Given the description of an element on the screen output the (x, y) to click on. 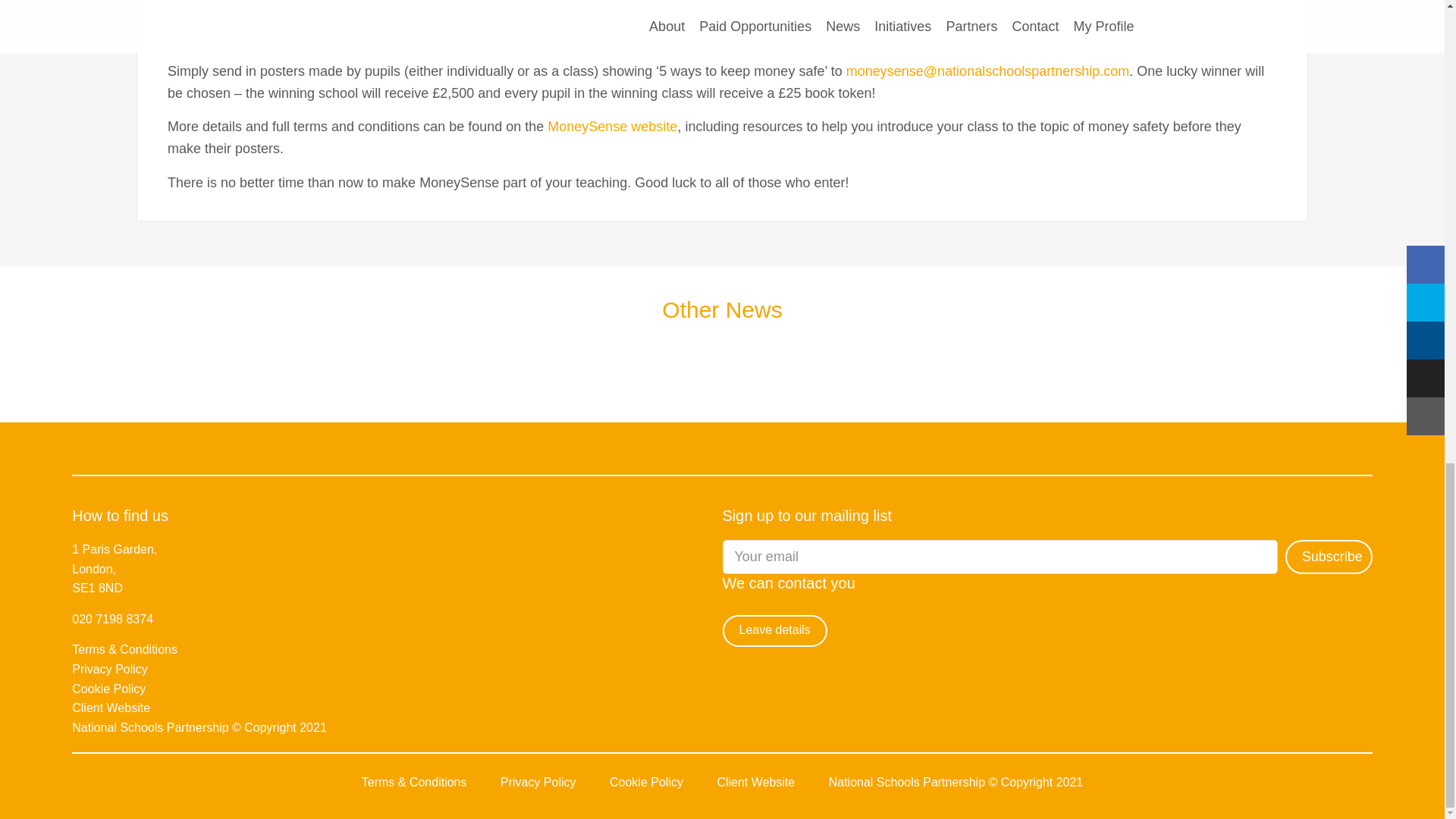
Privacy Policy (109, 668)
Cookie Policy (108, 688)
MoneySense website (612, 126)
Client Website (110, 707)
Subscribe (1329, 556)
020 7198 8374 (111, 618)
